Given the description of an element on the screen output the (x, y) to click on. 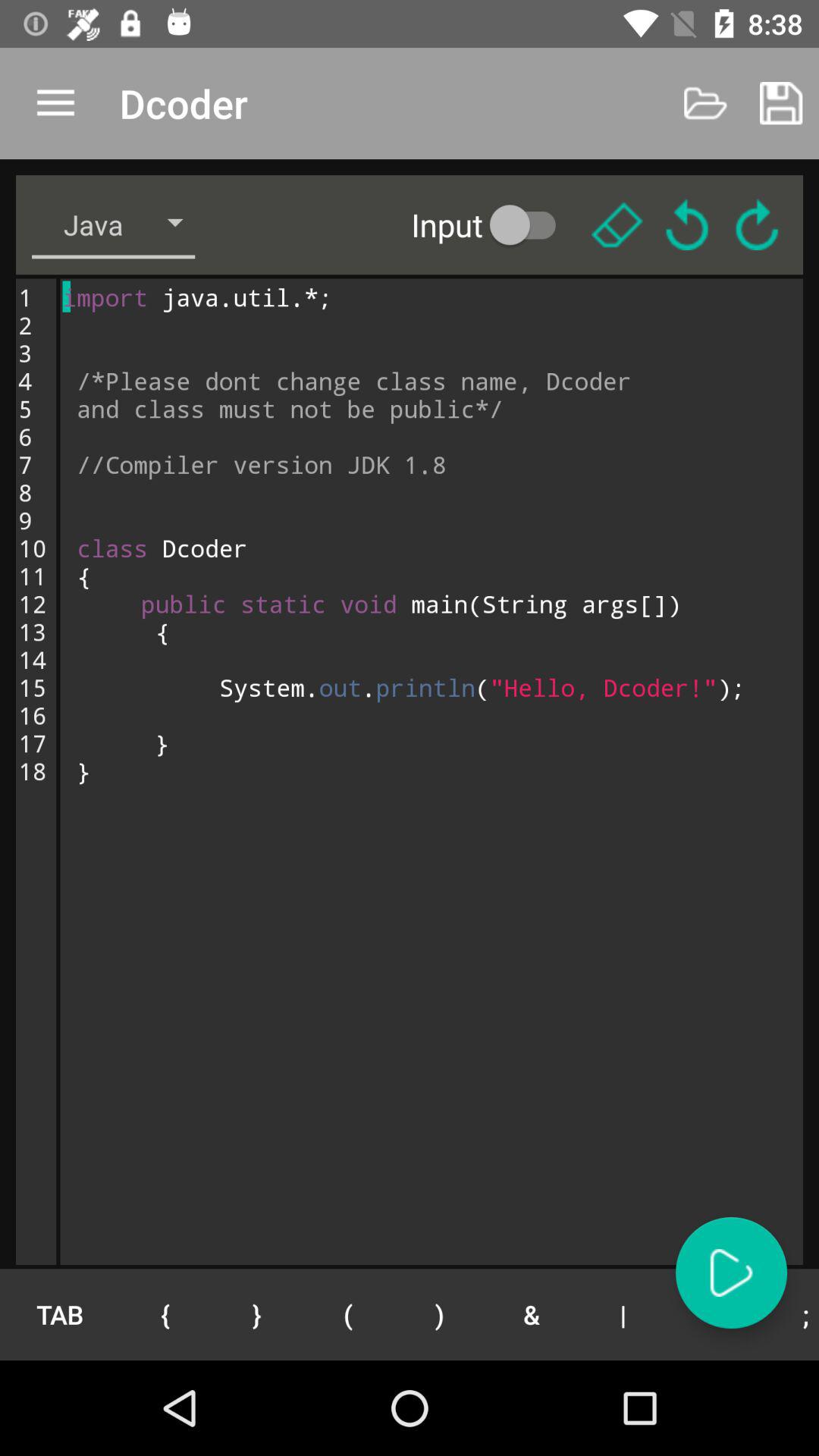
highlight selected words (616, 224)
